Given the description of an element on the screen output the (x, y) to click on. 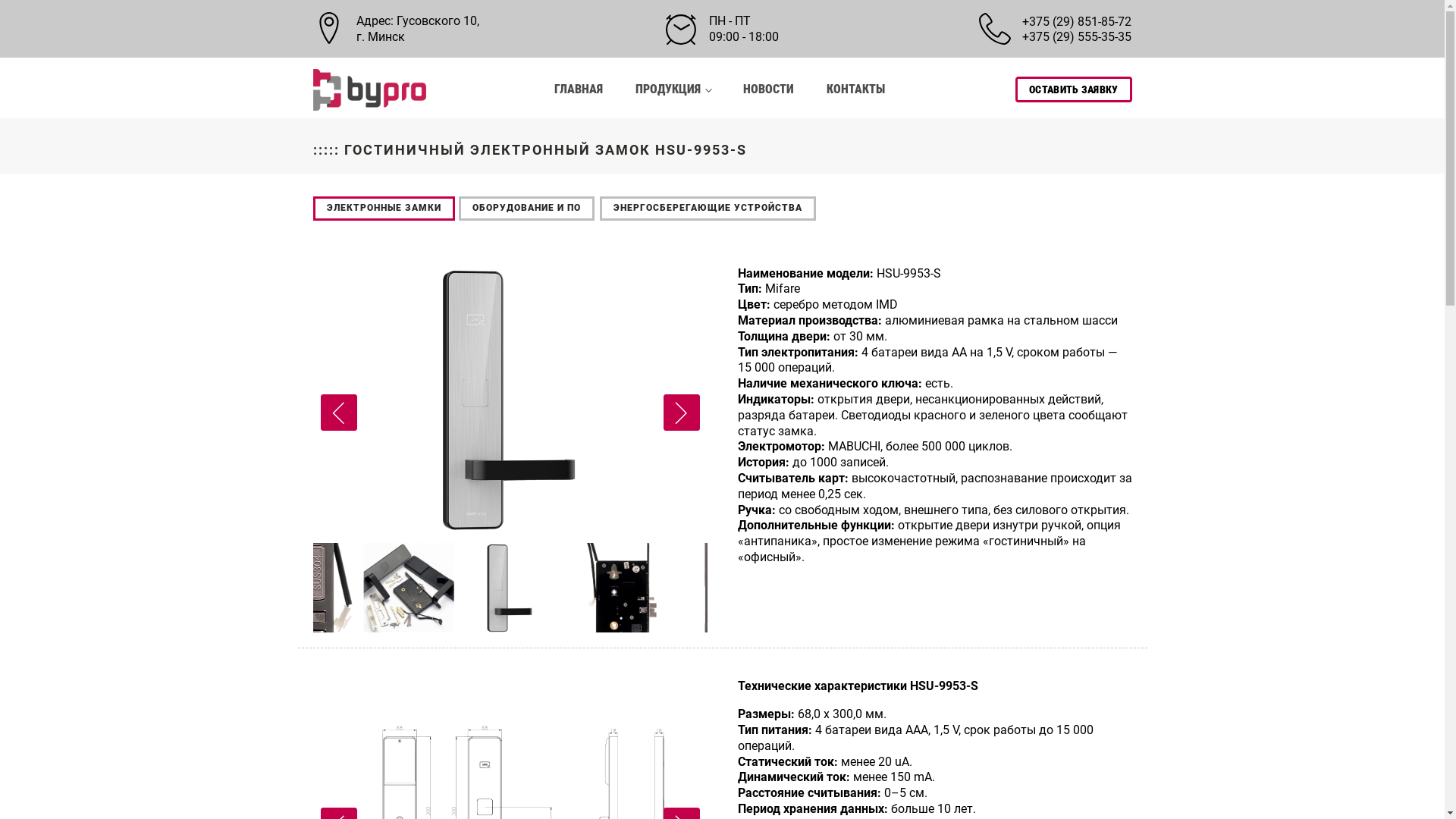
+375 (29) 851-85-72 Element type: text (1076, 20)
+375 (29) 555-35-35 Element type: text (1076, 36)
